Given the description of an element on the screen output the (x, y) to click on. 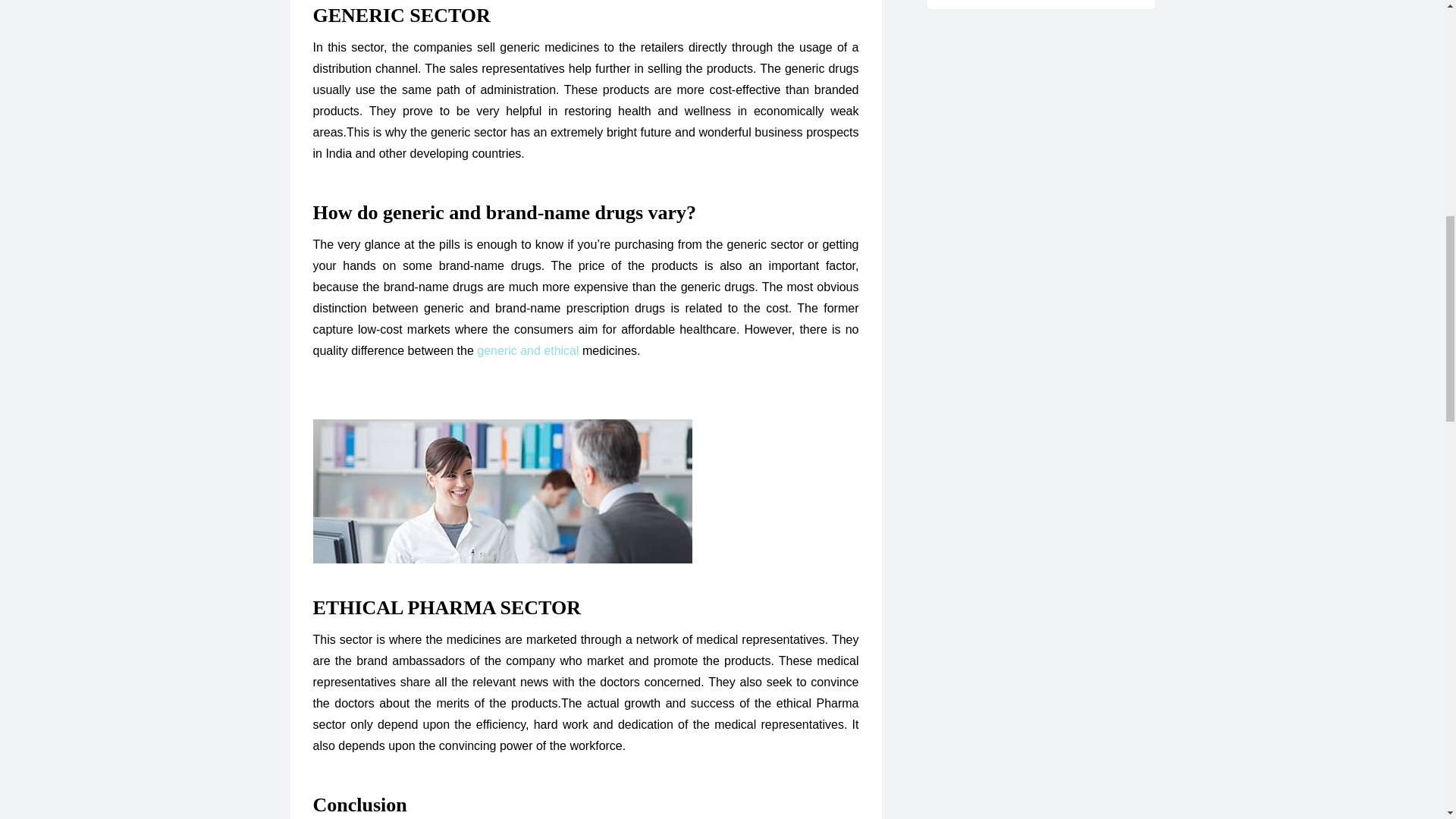
generic and ethical (527, 350)
